Given the description of an element on the screen output the (x, y) to click on. 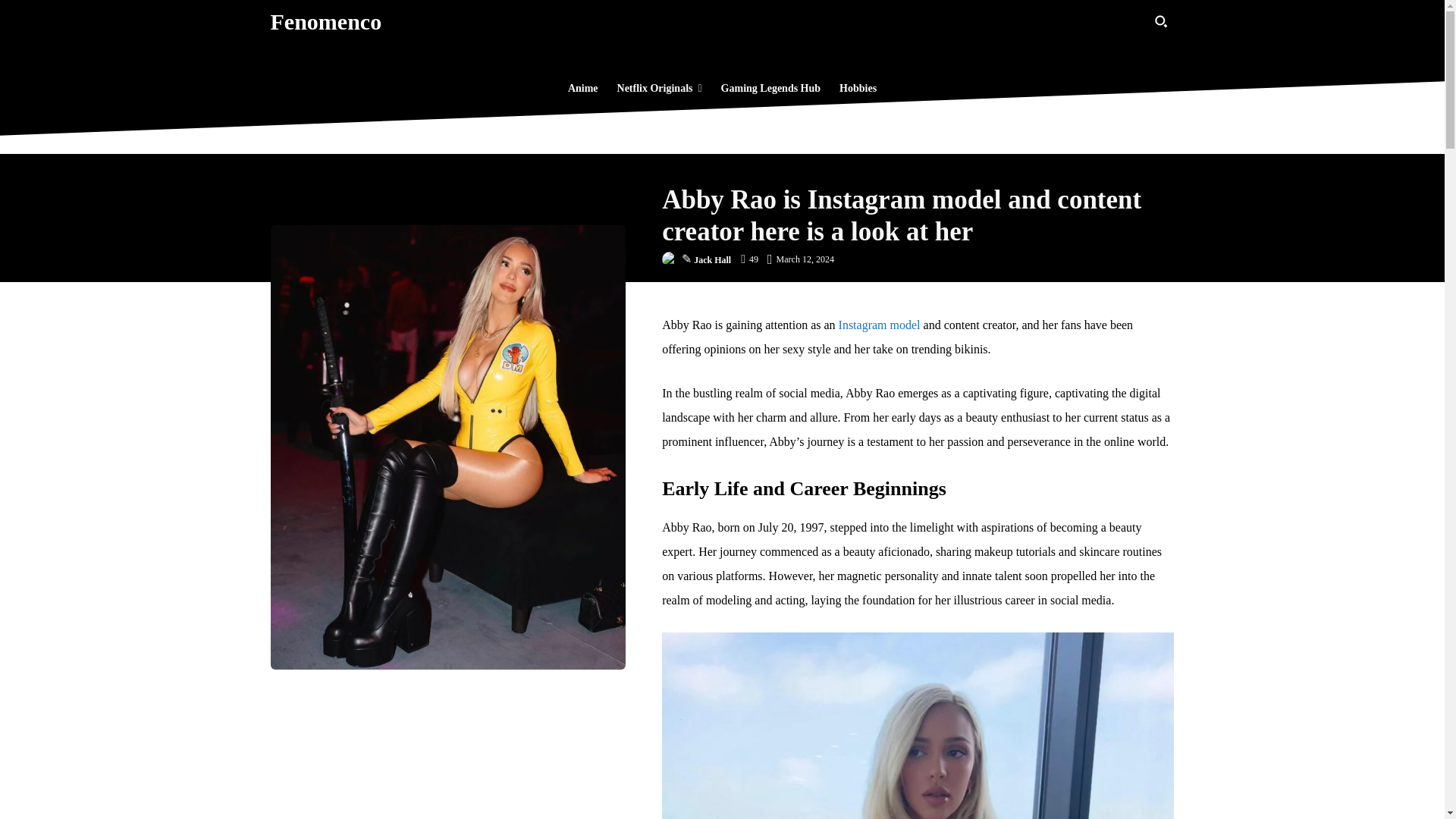
Netflix Originals (660, 88)
Jack Hall (712, 259)
Hobbies (857, 88)
Anime (582, 88)
Jack Hall (671, 258)
Gaming Legends Hub (770, 88)
Instagram model (879, 324)
Fenomenco (325, 21)
